Given the description of an element on the screen output the (x, y) to click on. 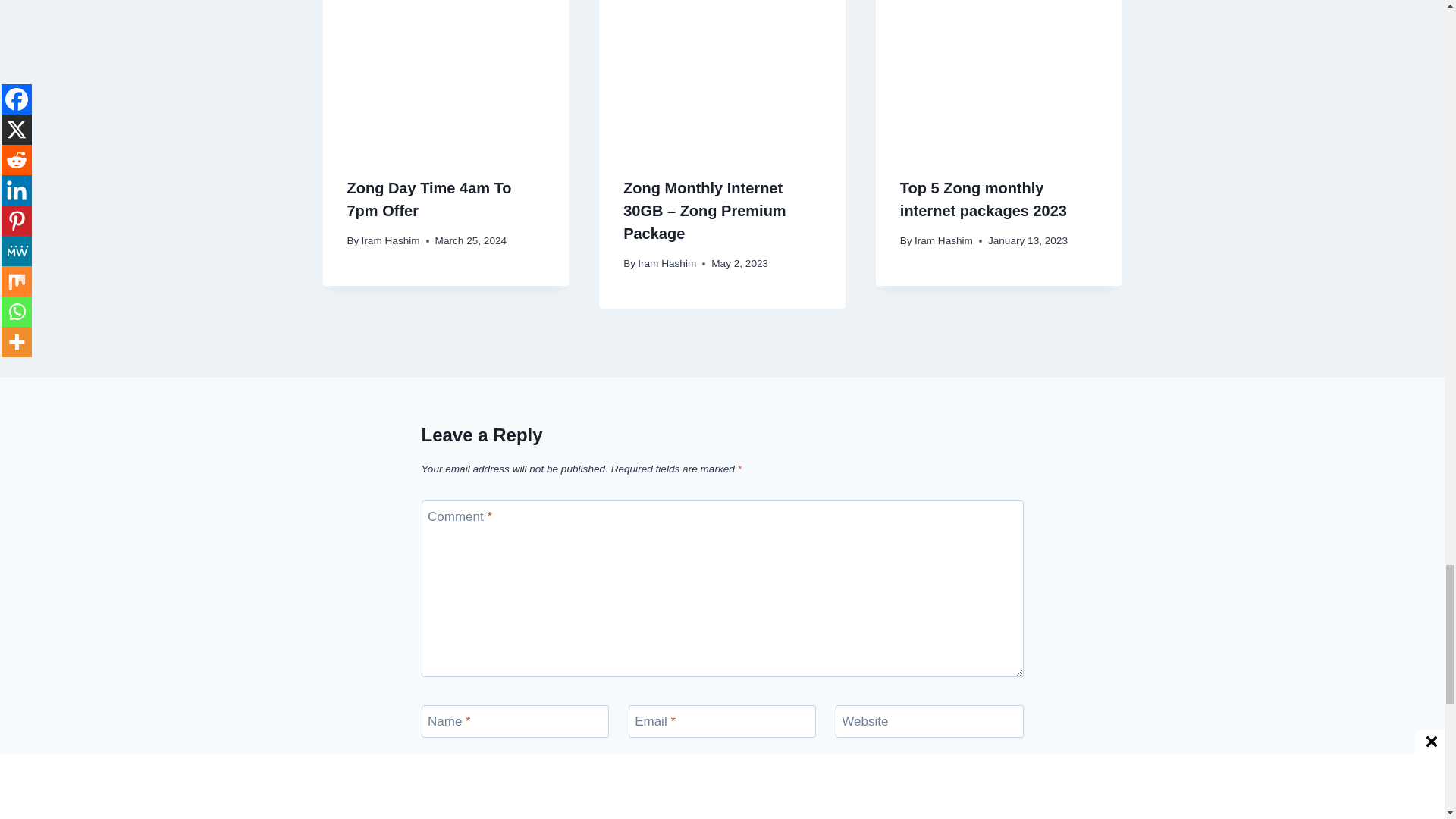
Post Comment (477, 805)
yes (426, 764)
